Given the description of an element on the screen output the (x, y) to click on. 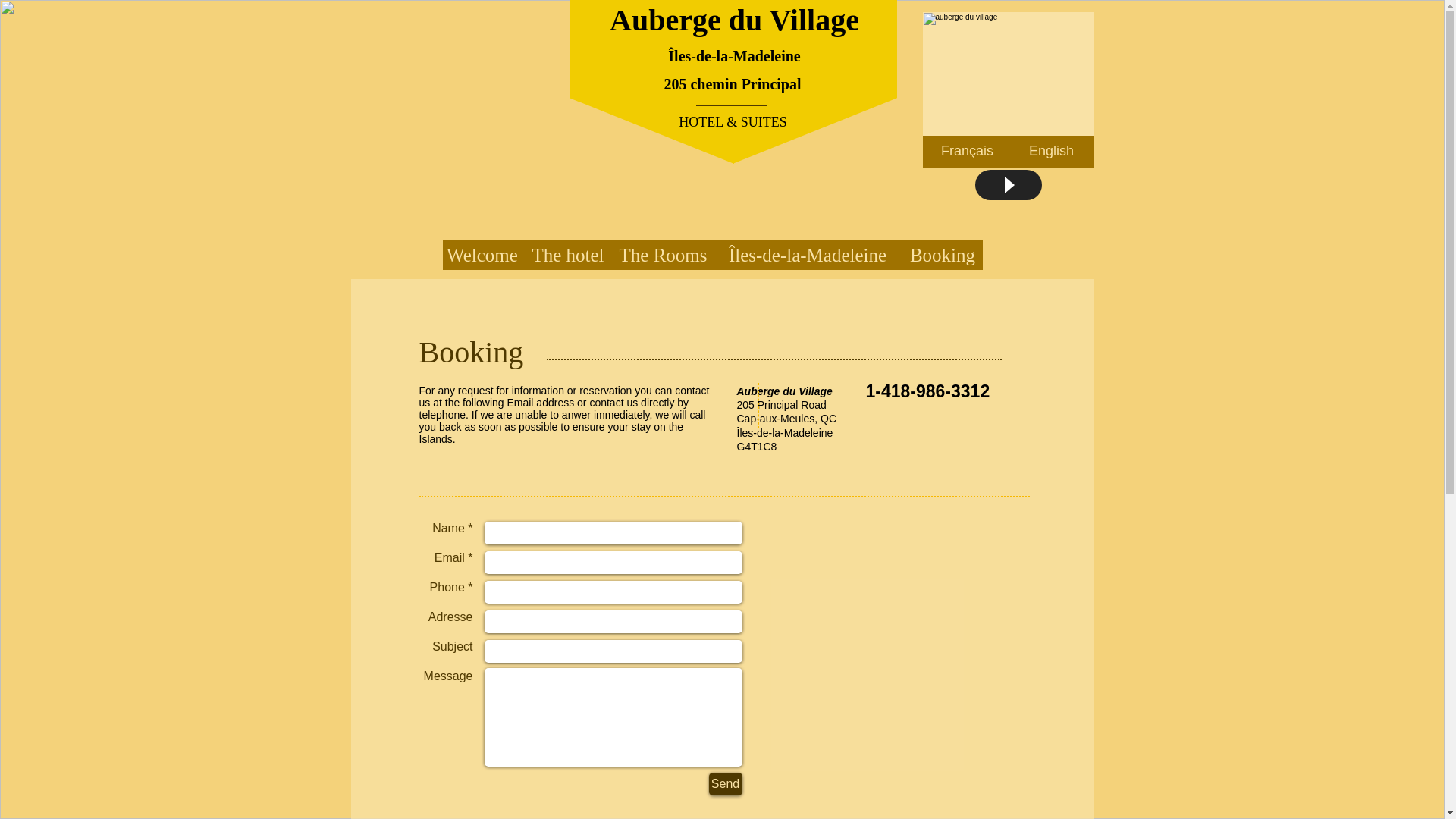
Welcome (482, 255)
The Rooms (663, 255)
Send (724, 784)
The hotel (566, 255)
Booking (941, 255)
English (1051, 151)
